Given the description of an element on the screen output the (x, y) to click on. 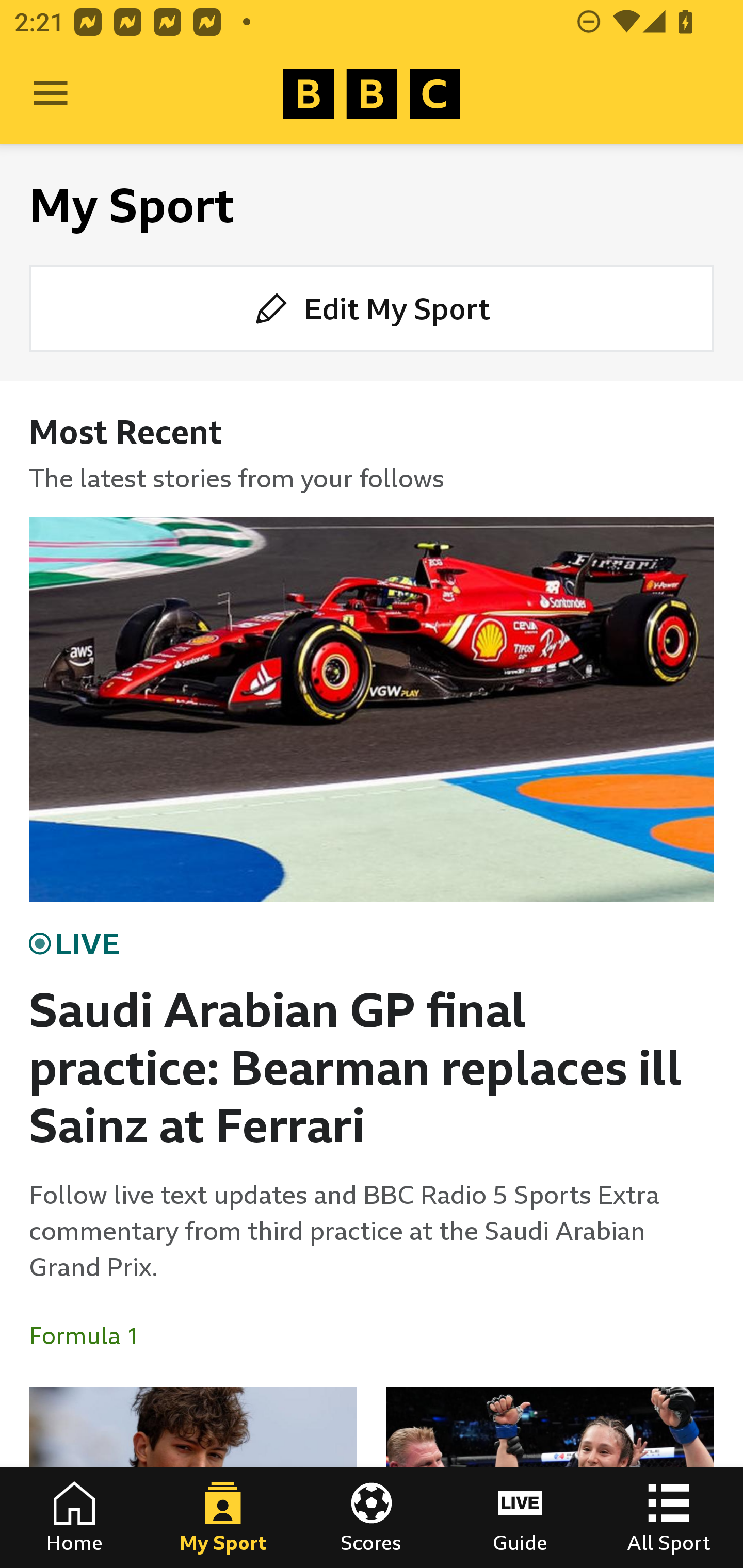
Open Menu (50, 93)
Edit My Sport (371, 307)
Home (74, 1517)
Scores (371, 1517)
Guide (519, 1517)
All Sport (668, 1517)
